Given the description of an element on the screen output the (x, y) to click on. 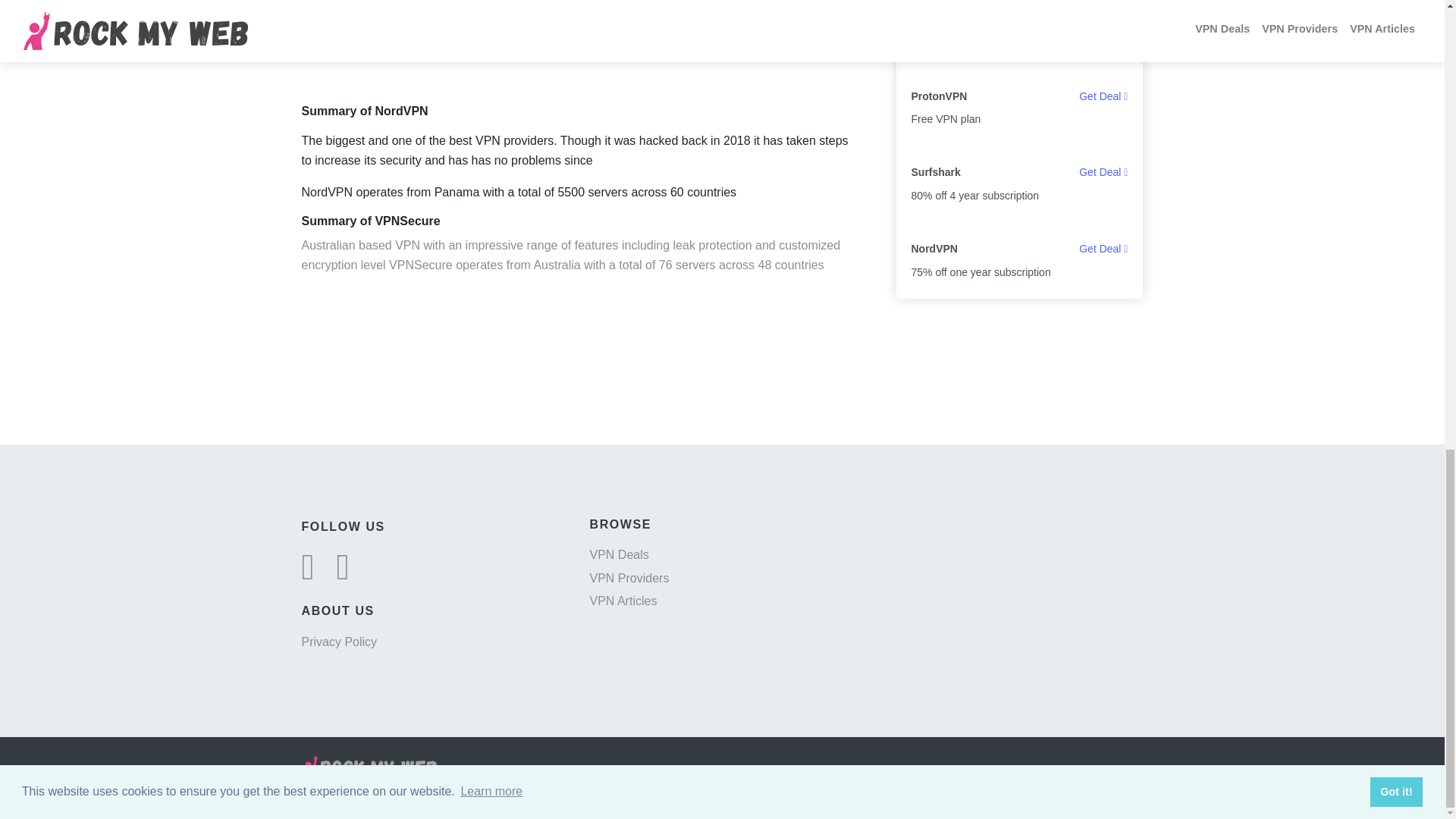
Privacy Policy (339, 641)
twitter (308, 574)
facebook (342, 574)
MORE INFO (794, 41)
MORE INFO (619, 41)
VPN Providers (628, 577)
VPN Deals (618, 554)
VPN Articles (622, 600)
